Given the description of an element on the screen output the (x, y) to click on. 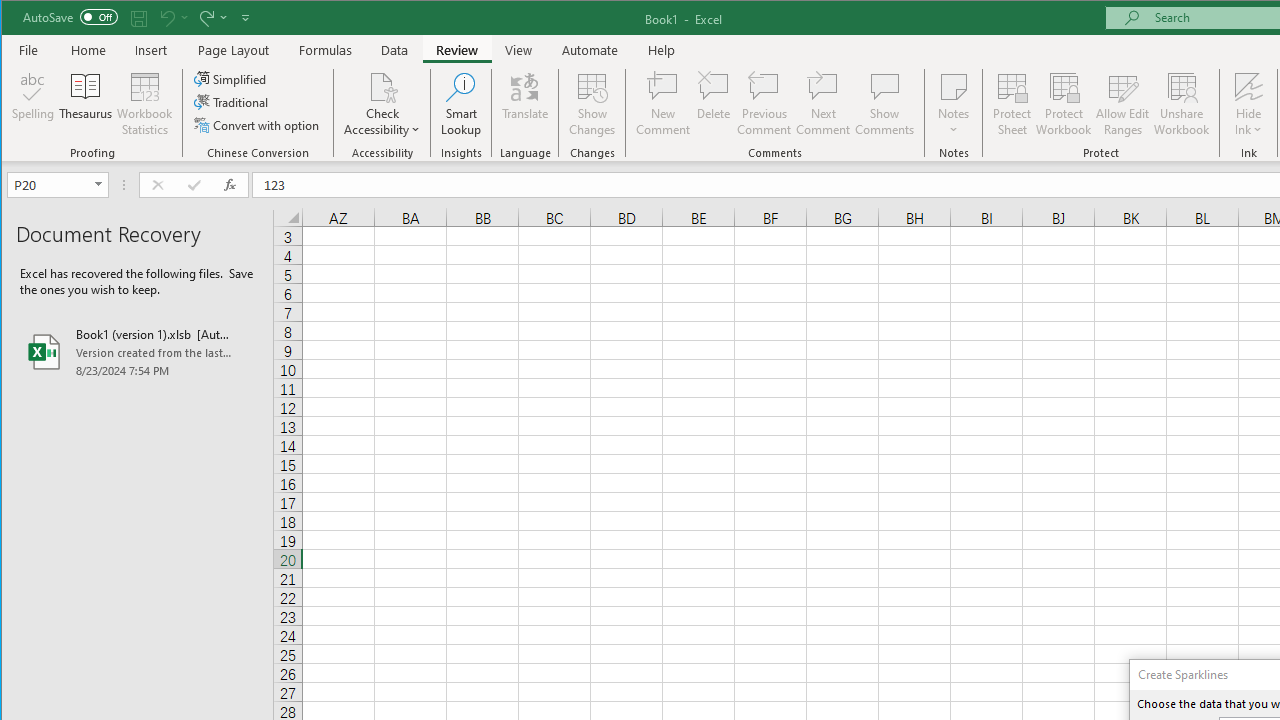
Smart Lookup (461, 104)
Workbook Statistics (145, 104)
Convert with option (258, 124)
Simplified (231, 78)
Notes (954, 104)
Unshare Workbook (1182, 104)
